Given the description of an element on the screen output the (x, y) to click on. 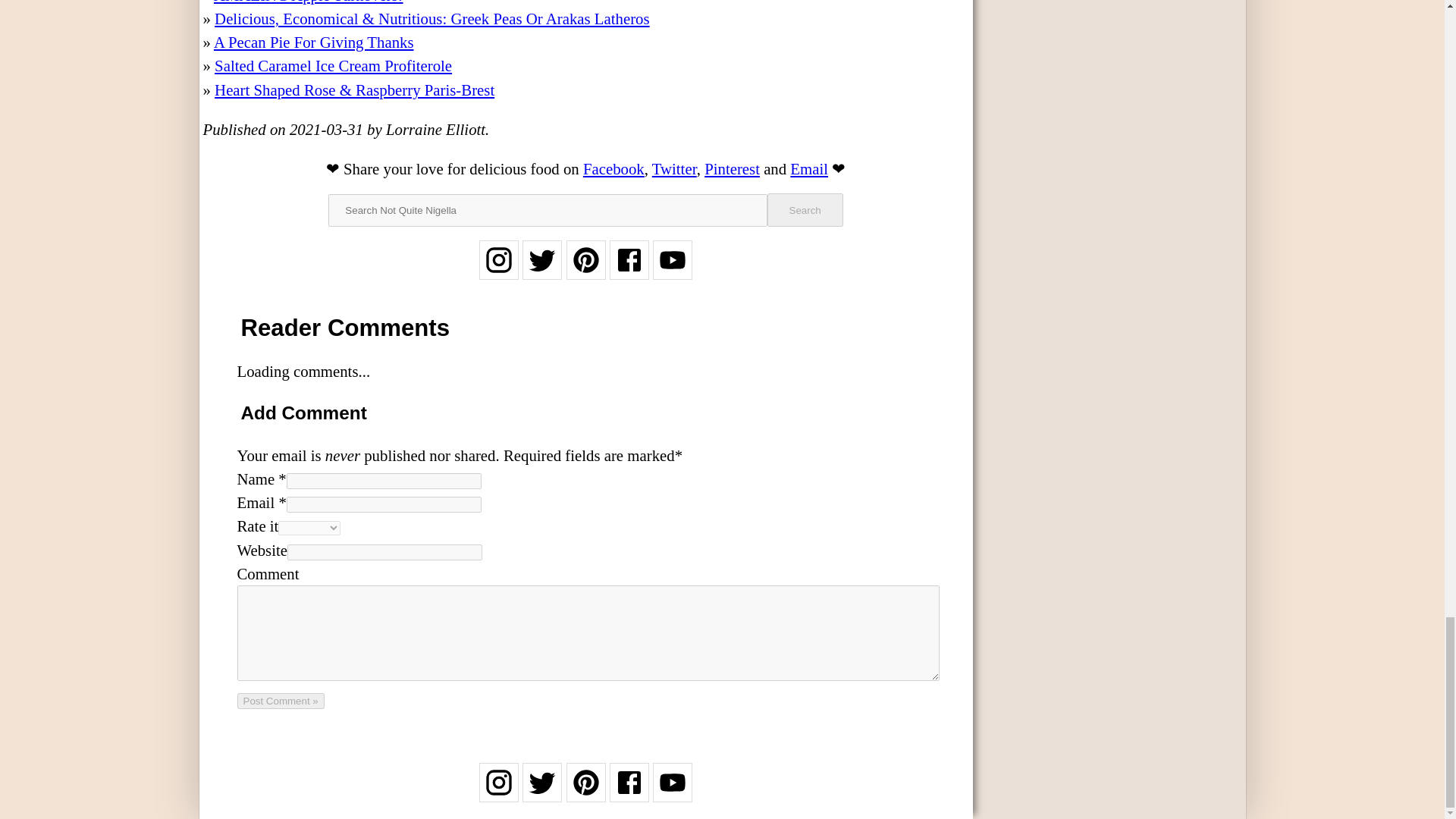
Email (809, 167)
Pinterest (732, 167)
Email (809, 167)
Follow on Twitter (542, 791)
Follow on Instagram (498, 791)
Salted Caramel Ice Cream Profiterole (332, 65)
Tweet (674, 167)
Twitter (674, 167)
Search (805, 209)
AMAZING Apple Turnovers! (308, 2)
